Given the description of an element on the screen output the (x, y) to click on. 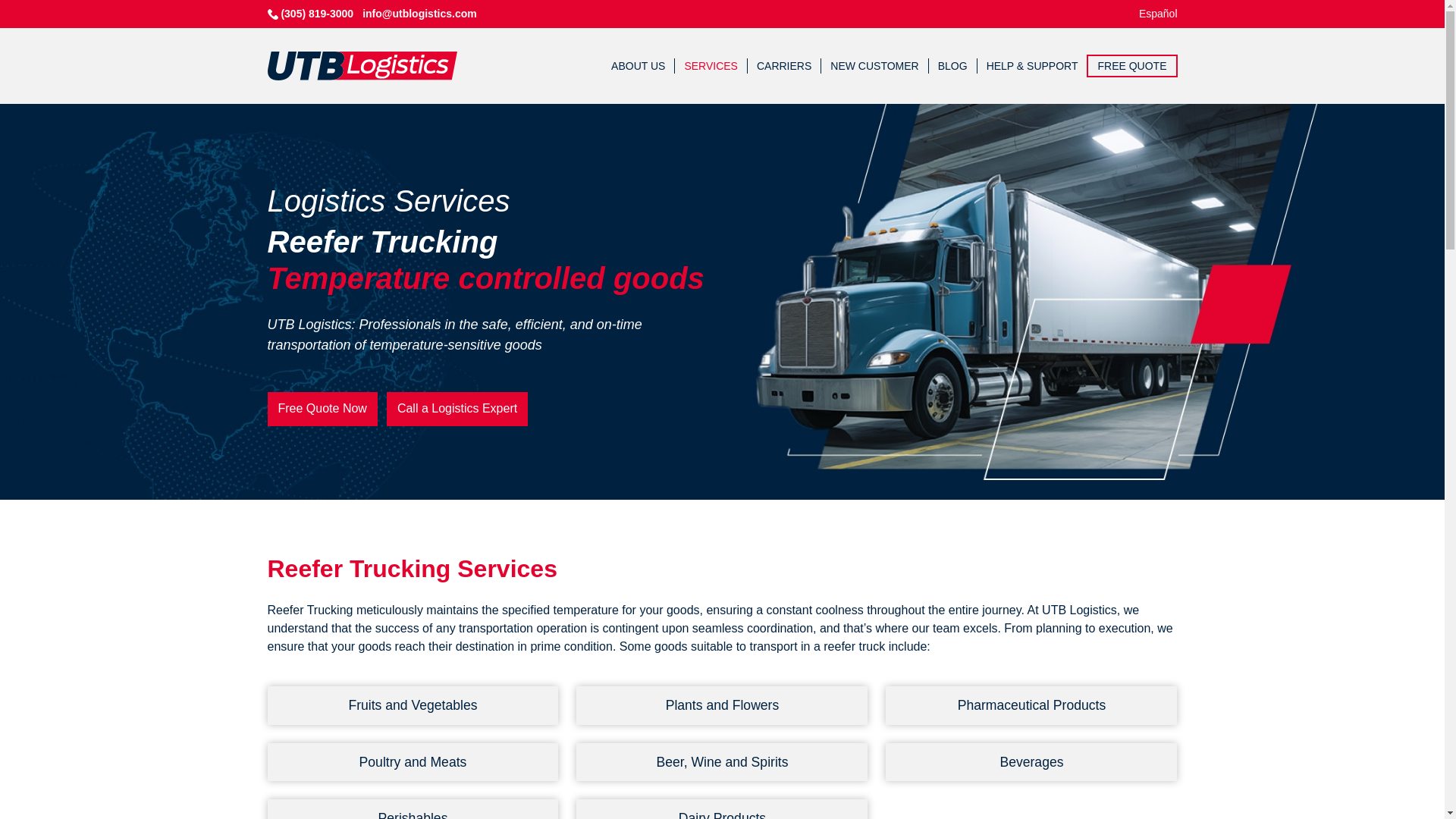
NEW CUSTOMER (874, 65)
FREE QUOTE (1131, 65)
BLOG (952, 65)
Free Quote Now (321, 408)
CARRIERS (784, 65)
Call a Logistics Expert (457, 408)
SERVICES (711, 65)
ABOUT US (638, 65)
